Given the description of an element on the screen output the (x, y) to click on. 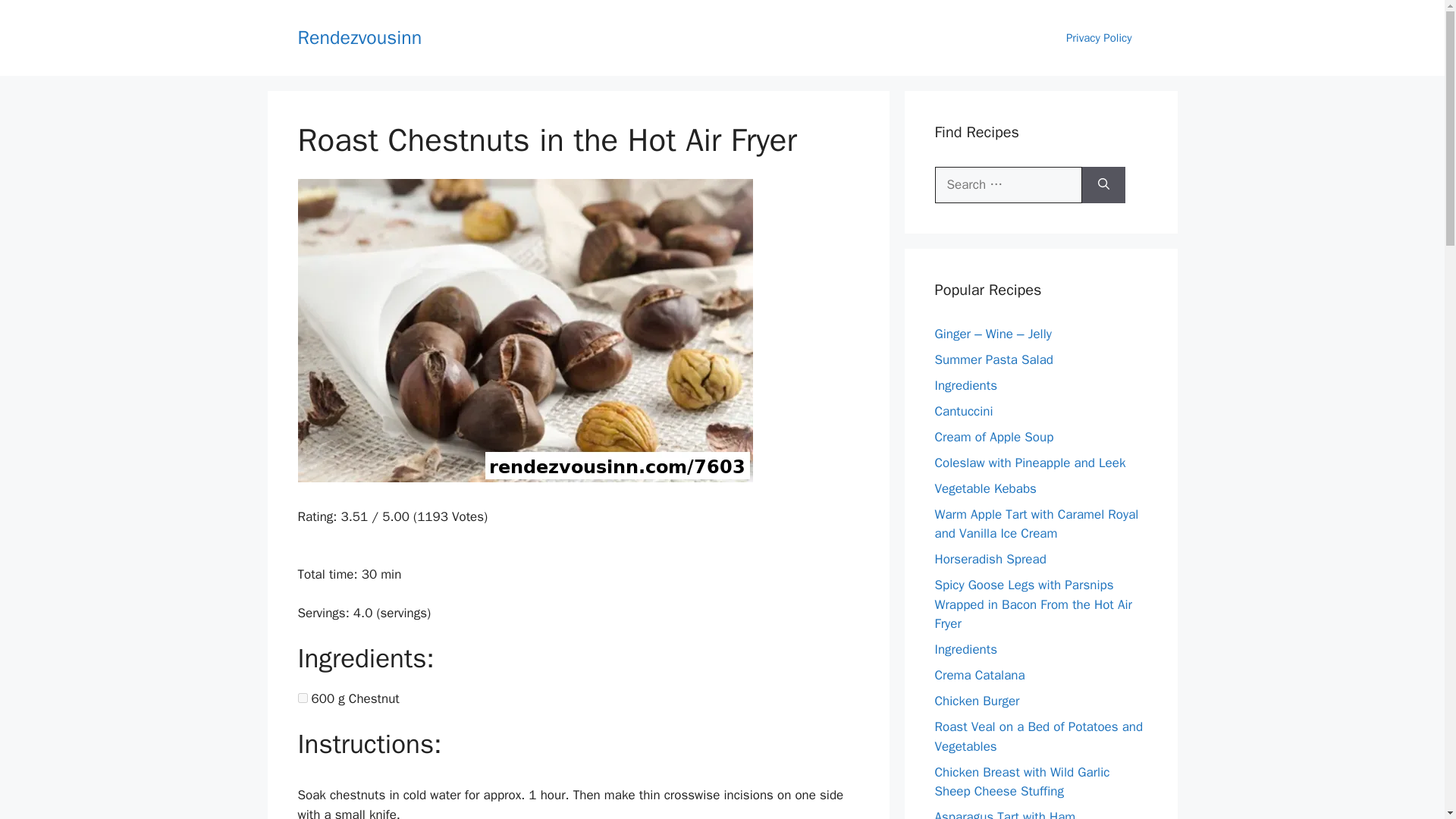
Horseradish Spread (989, 559)
Summer Pasta Salad (993, 359)
Chicken Burger (976, 700)
Privacy Policy (1099, 37)
Ingredients (965, 385)
Search for: (1007, 185)
Asparagus Tart with Ham (1004, 814)
Chicken Breast with Wild Garlic Sheep Cheese Stuffing (1021, 782)
Roast Veal on a Bed of Potatoes and Vegetables (1038, 736)
600 g Chestnut (302, 697)
Coleslaw with Pineapple and Leek (1029, 462)
Vegetable Kebabs (984, 488)
Rendezvousinn (359, 37)
Warm Apple Tart with Caramel Royal and Vanilla Ice Cream (1036, 524)
